Given the description of an element on the screen output the (x, y) to click on. 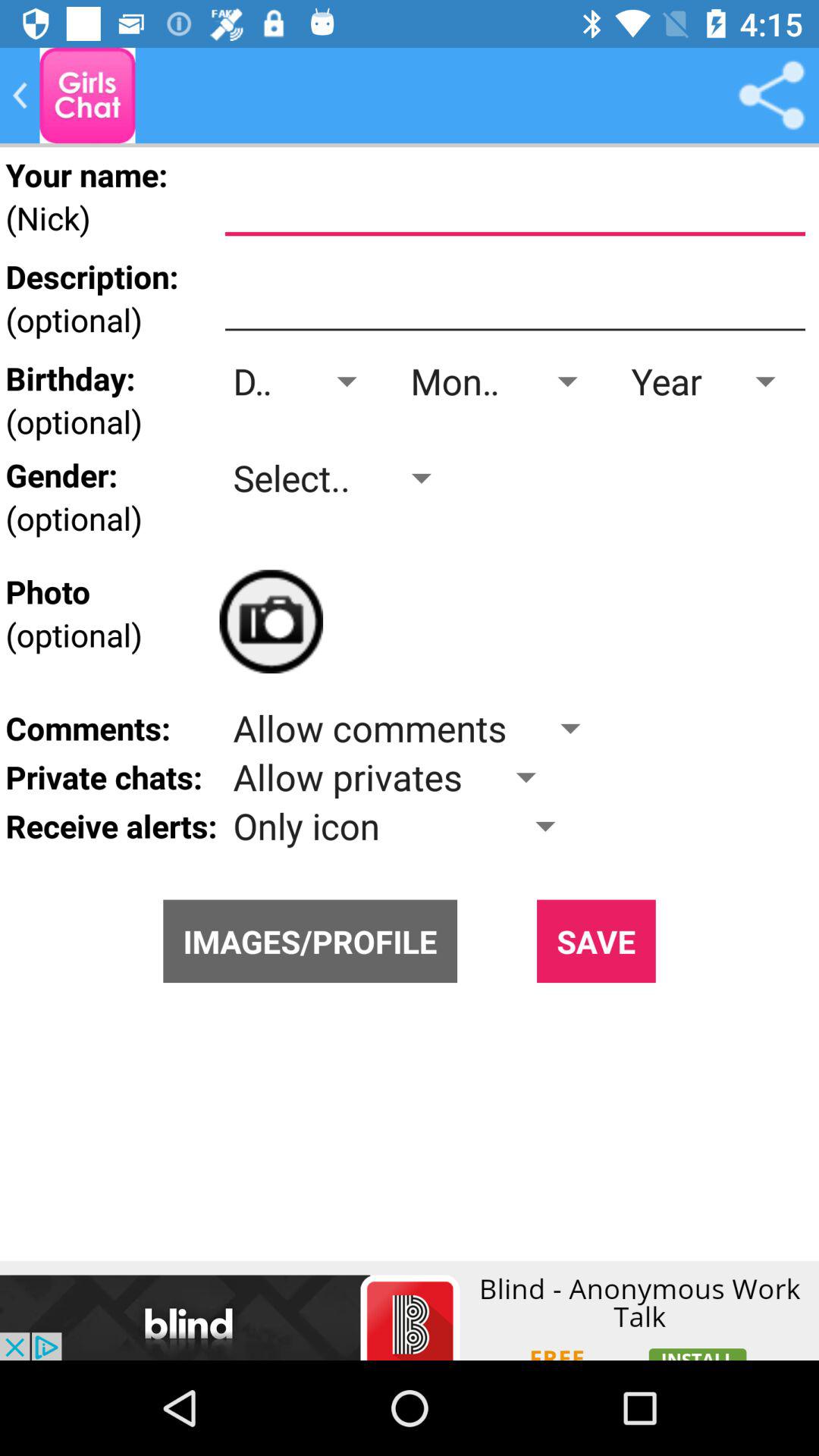
insert description (515, 297)
